Given the description of an element on the screen output the (x, y) to click on. 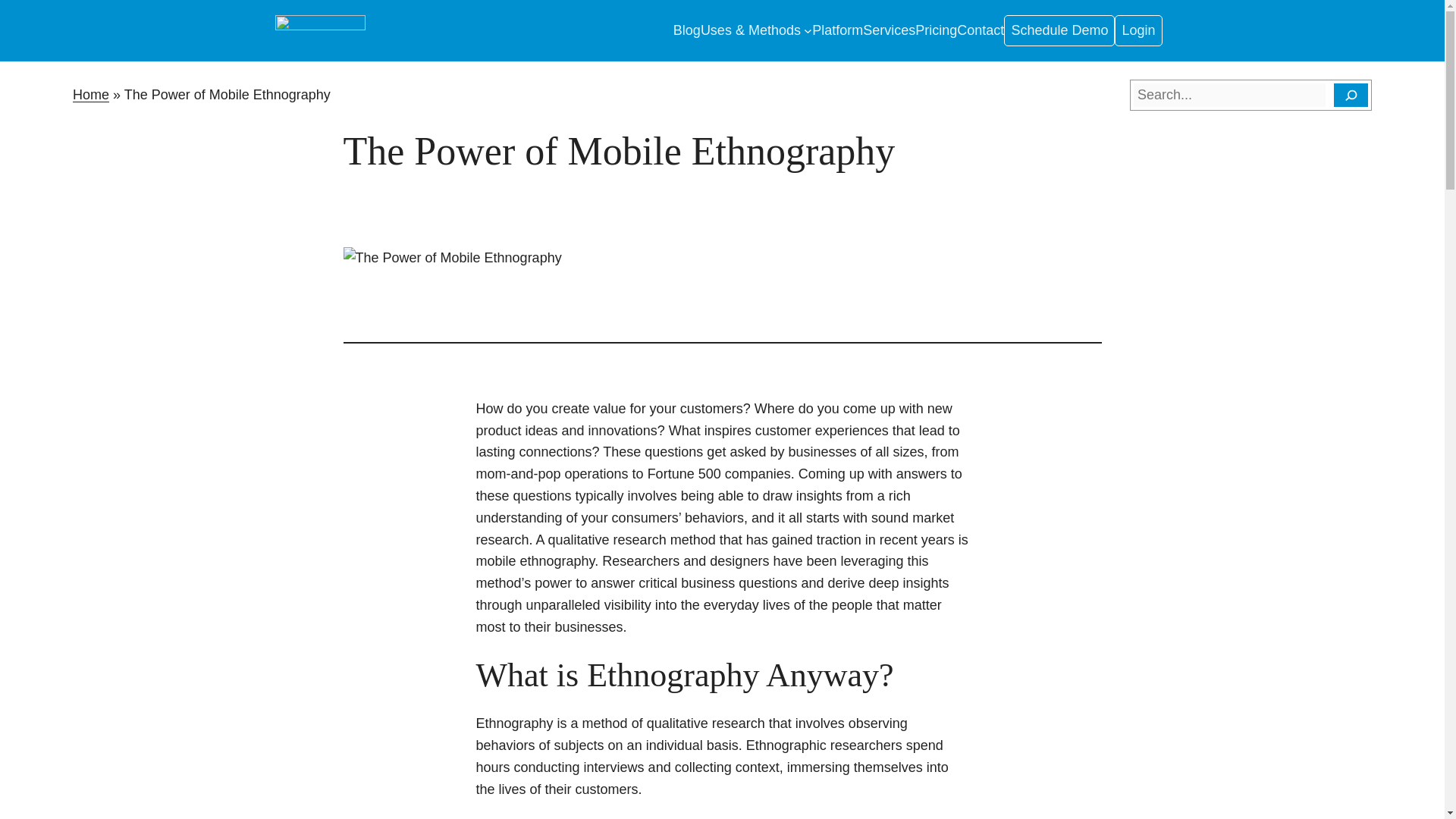
Services (889, 30)
Contact (980, 30)
Blog (686, 30)
Schedule Demo (1059, 30)
Home (90, 94)
Login (1137, 30)
Platform (837, 30)
Pricing (935, 30)
